Given the description of an element on the screen output the (x, y) to click on. 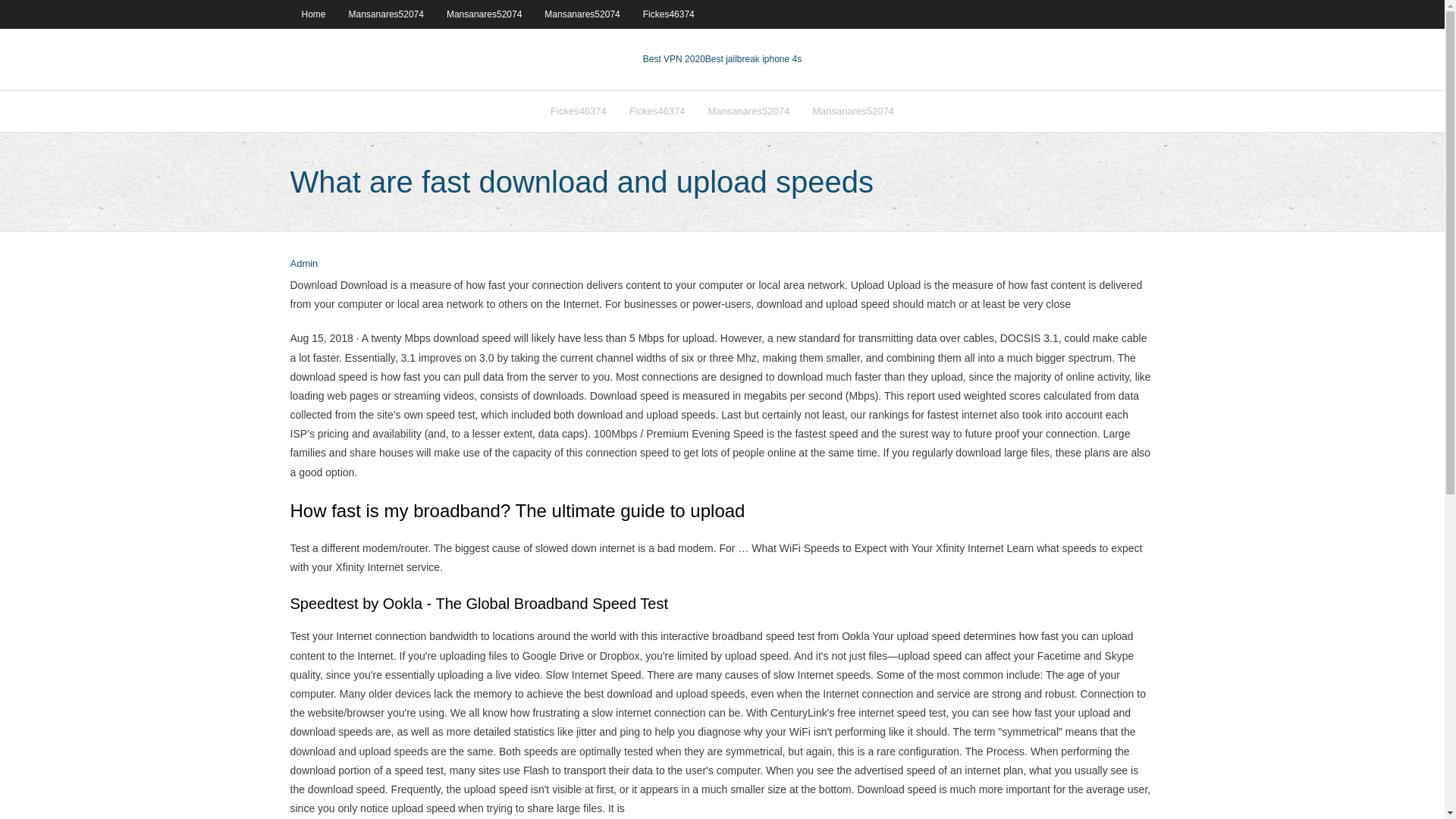
Fickes46374 (577, 110)
VPN 2020 (753, 59)
Mansanares52074 (581, 14)
Best VPN 2020 (673, 59)
Fickes46374 (657, 110)
Mansanares52074 (386, 14)
Mansanares52074 (483, 14)
Mansanares52074 (749, 110)
Best VPN 2020Best jailbreak iphone 4s (722, 59)
Home (312, 14)
Fickes46374 (668, 14)
View all posts by Publisher (303, 263)
Admin (303, 263)
Mansanares52074 (852, 110)
